Given the description of an element on the screen output the (x, y) to click on. 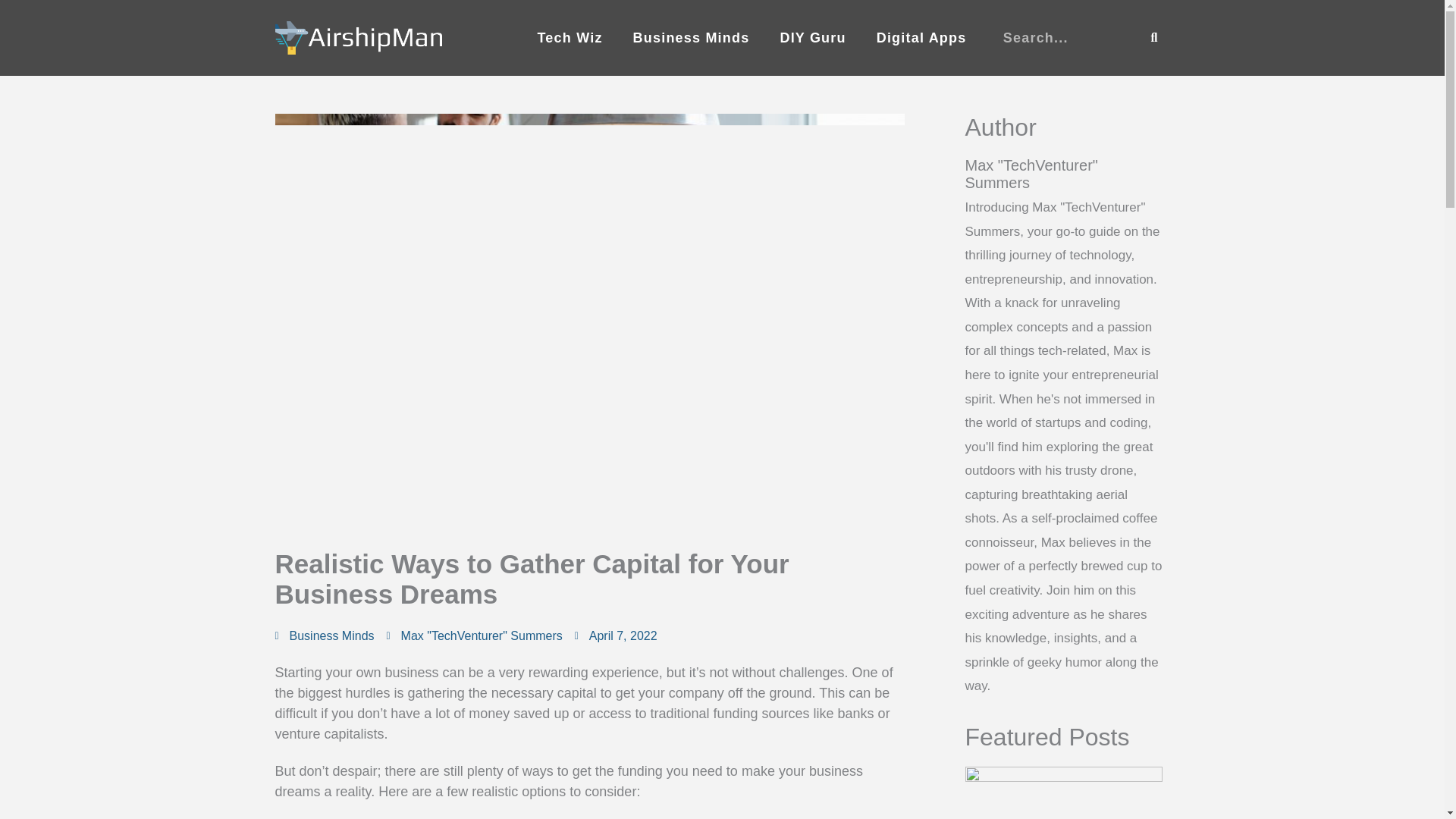
Search (1153, 37)
Tech Wiz (569, 37)
Digital Apps (921, 37)
April 7, 2022 (616, 635)
Business Minds (691, 37)
DIY Guru (812, 37)
Business Minds (331, 635)
